Given the description of an element on the screen output the (x, y) to click on. 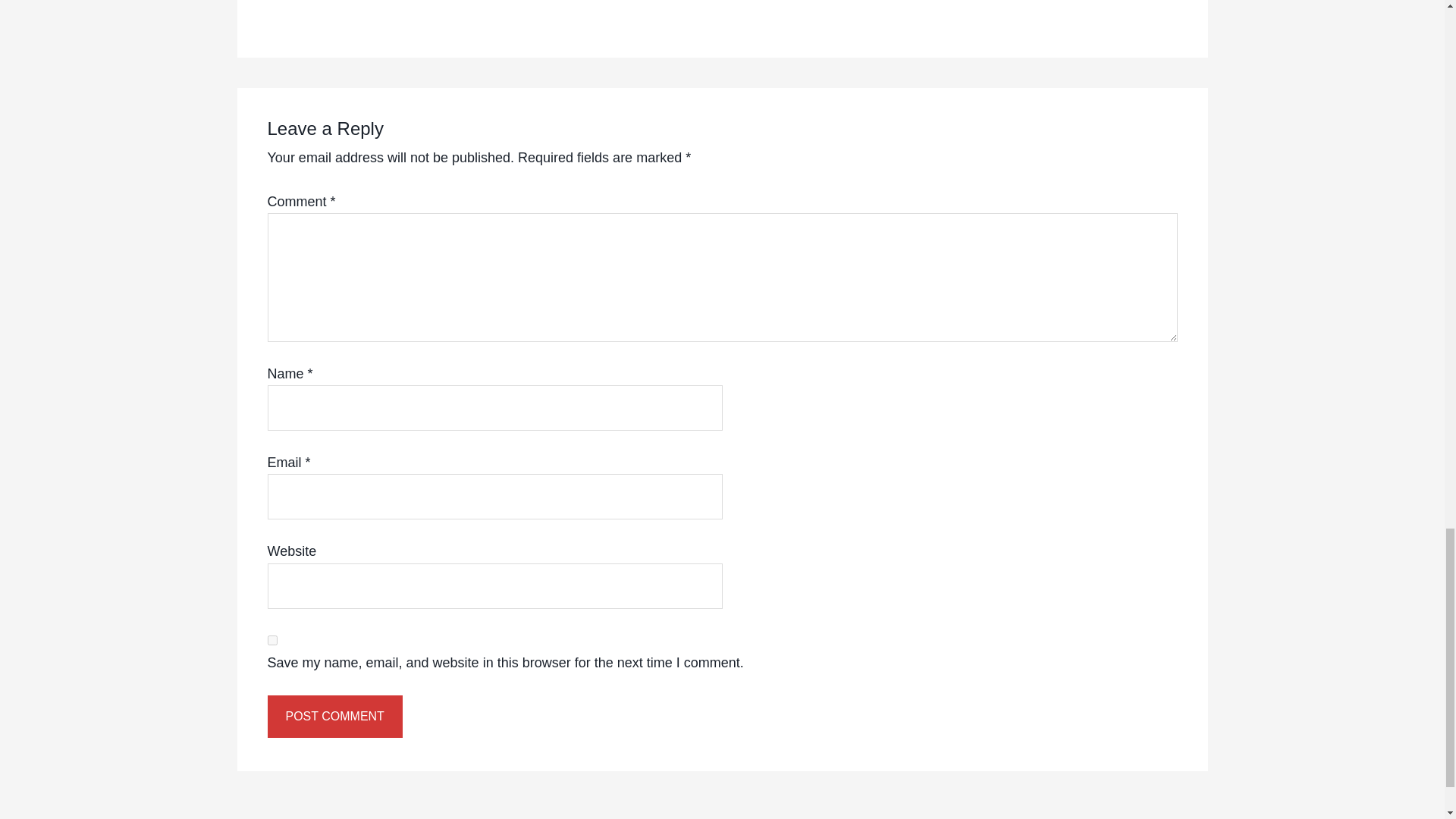
Post Comment (333, 716)
Post Comment (333, 716)
yes (271, 640)
